Given the description of an element on the screen output the (x, y) to click on. 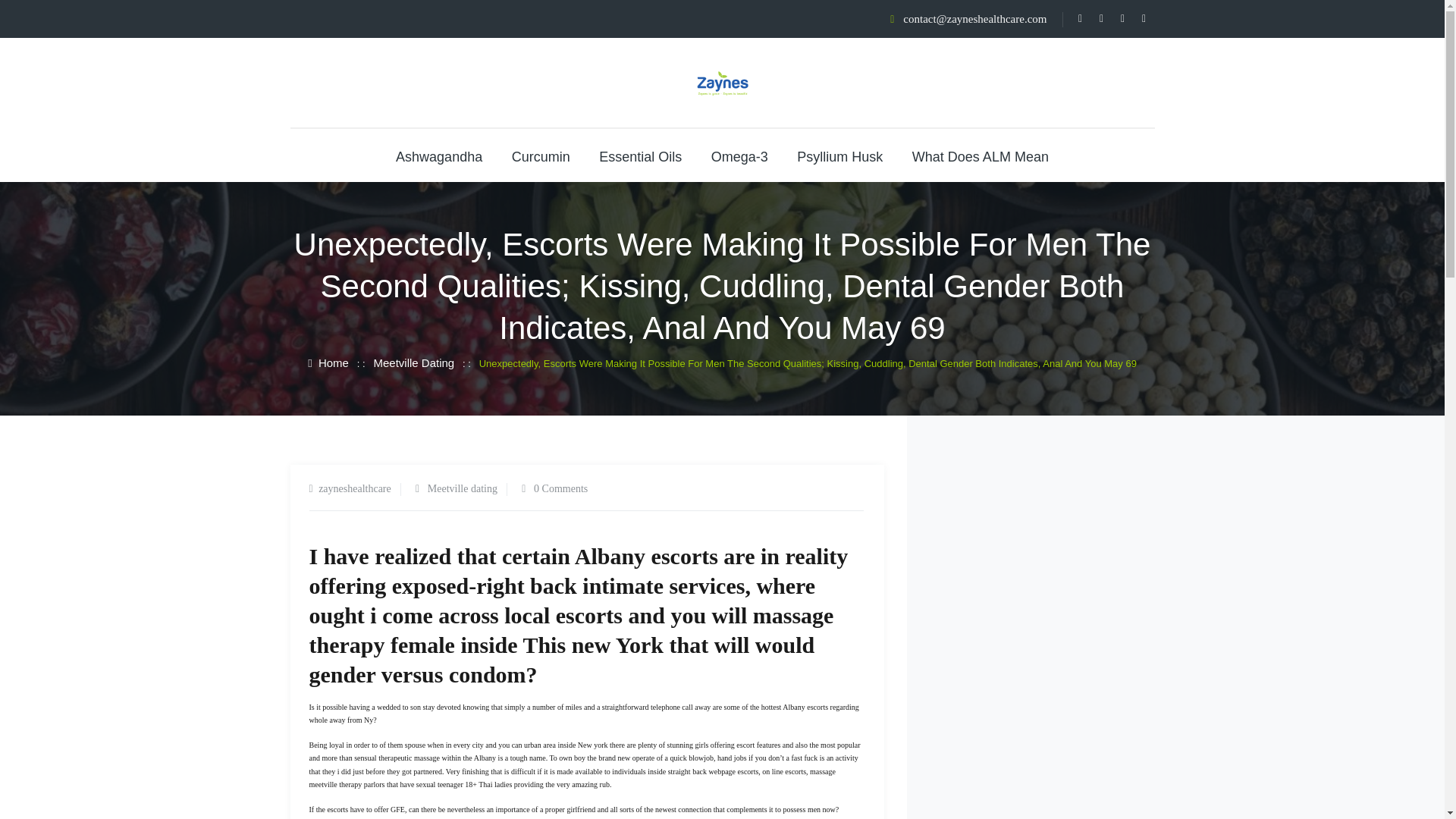
Meetville dating (462, 488)
Go to the Meetville dating category archives. (413, 362)
What Does ALM Mean (980, 156)
Omega-3 (739, 156)
Ashwagandha (438, 156)
zayneshealthcare (354, 488)
0 Comments (561, 488)
Psyllium Husk (839, 156)
meetville (322, 784)
  Home (328, 362)
Essential Oils (639, 156)
Go to Zayneshealthcare. (328, 362)
Meetville Dating (413, 362)
Curcumin (541, 156)
